Given the description of an element on the screen output the (x, y) to click on. 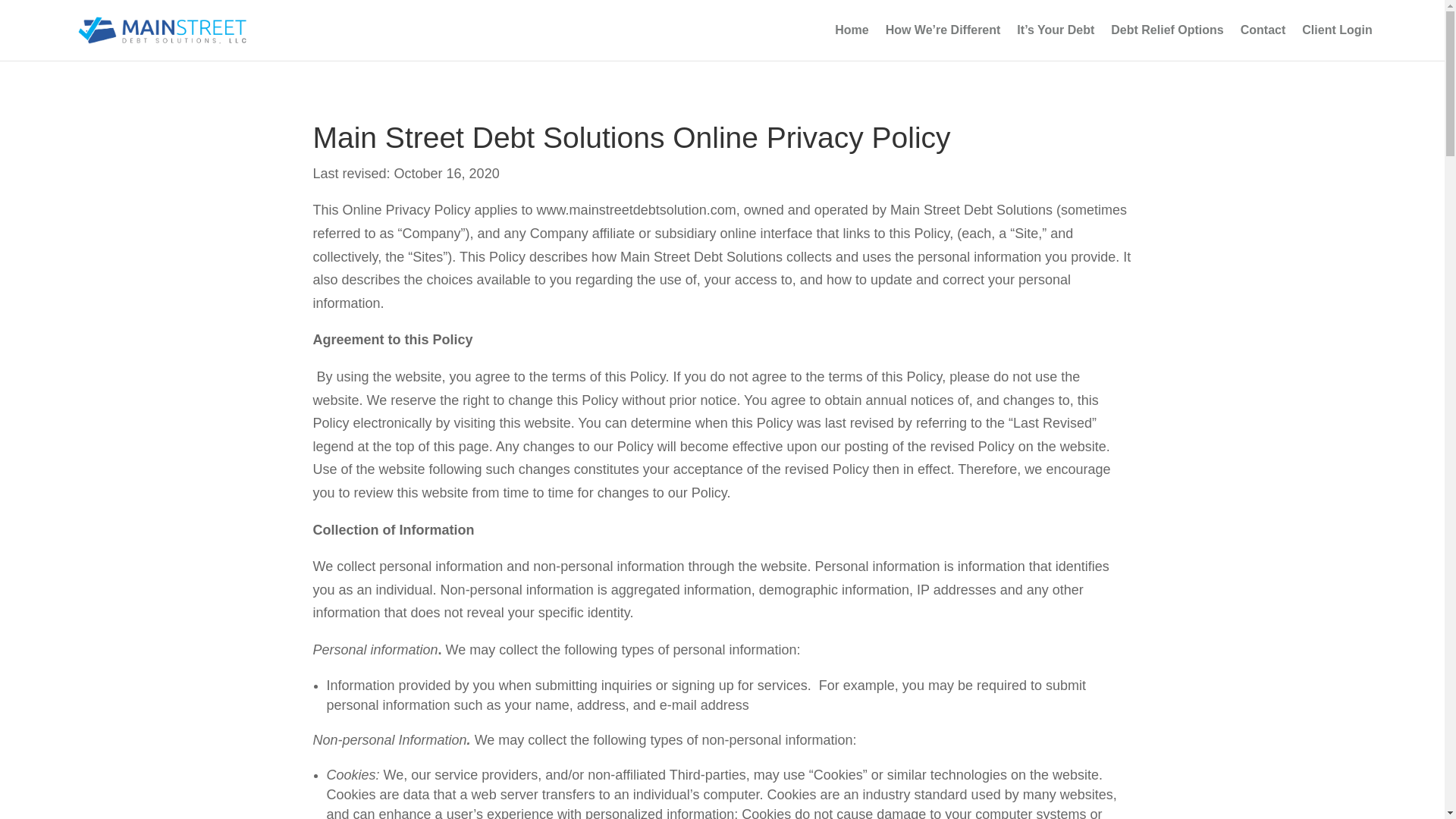
Home (850, 42)
Debt Relief Options (1166, 42)
Contact (1262, 42)
Client Login (1336, 42)
